Given the description of an element on the screen output the (x, y) to click on. 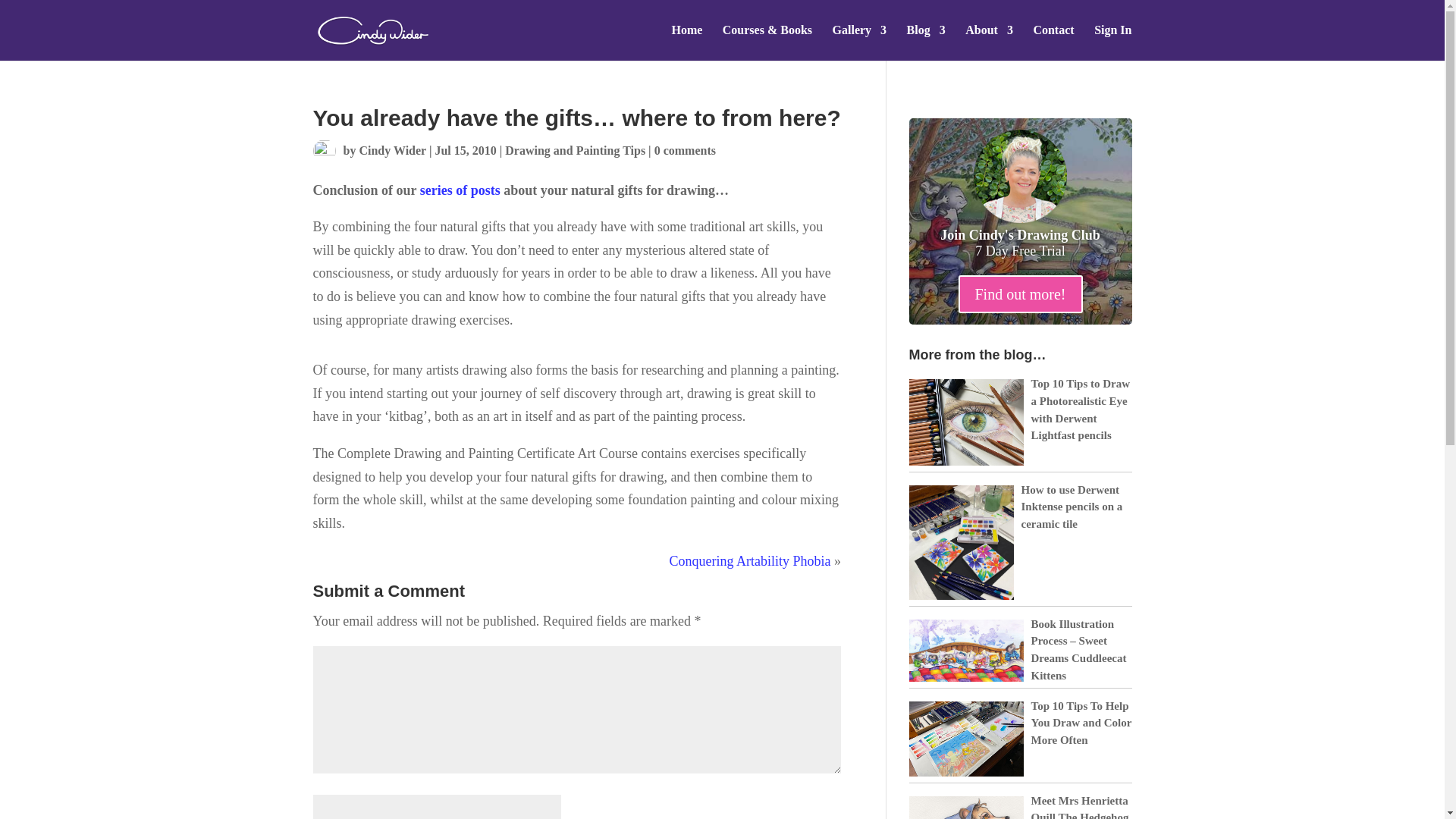
Sign In (1112, 42)
Cindy Wider (391, 150)
Drawing and Painting Tips (575, 150)
About (989, 42)
series of posts (460, 190)
0 comments (684, 150)
Blog (925, 42)
How to use Derwent Inktense pencils on a ceramic tile (1071, 506)
Contact (1053, 42)
Meet Mrs Henrietta Quill The Hedgehog (1079, 806)
Gallery (859, 42)
Conquering Artability Phobia (750, 560)
Top 10 Tips To Help You Draw and Color More Often (1081, 723)
Posts by Cindy Wider (391, 150)
